Given the description of an element on the screen output the (x, y) to click on. 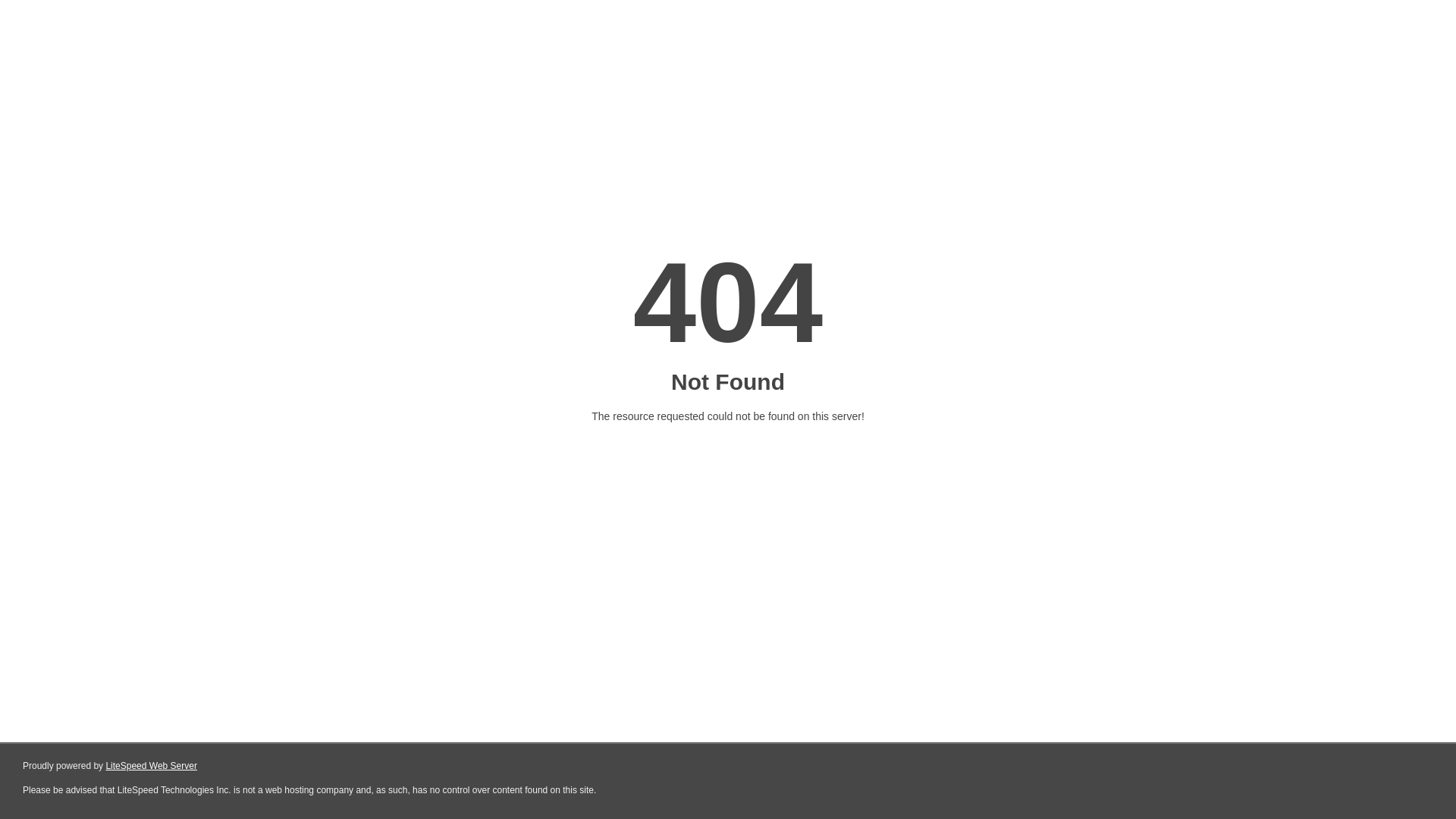
LiteSpeed Web Server Element type: text (151, 765)
